Given the description of an element on the screen output the (x, y) to click on. 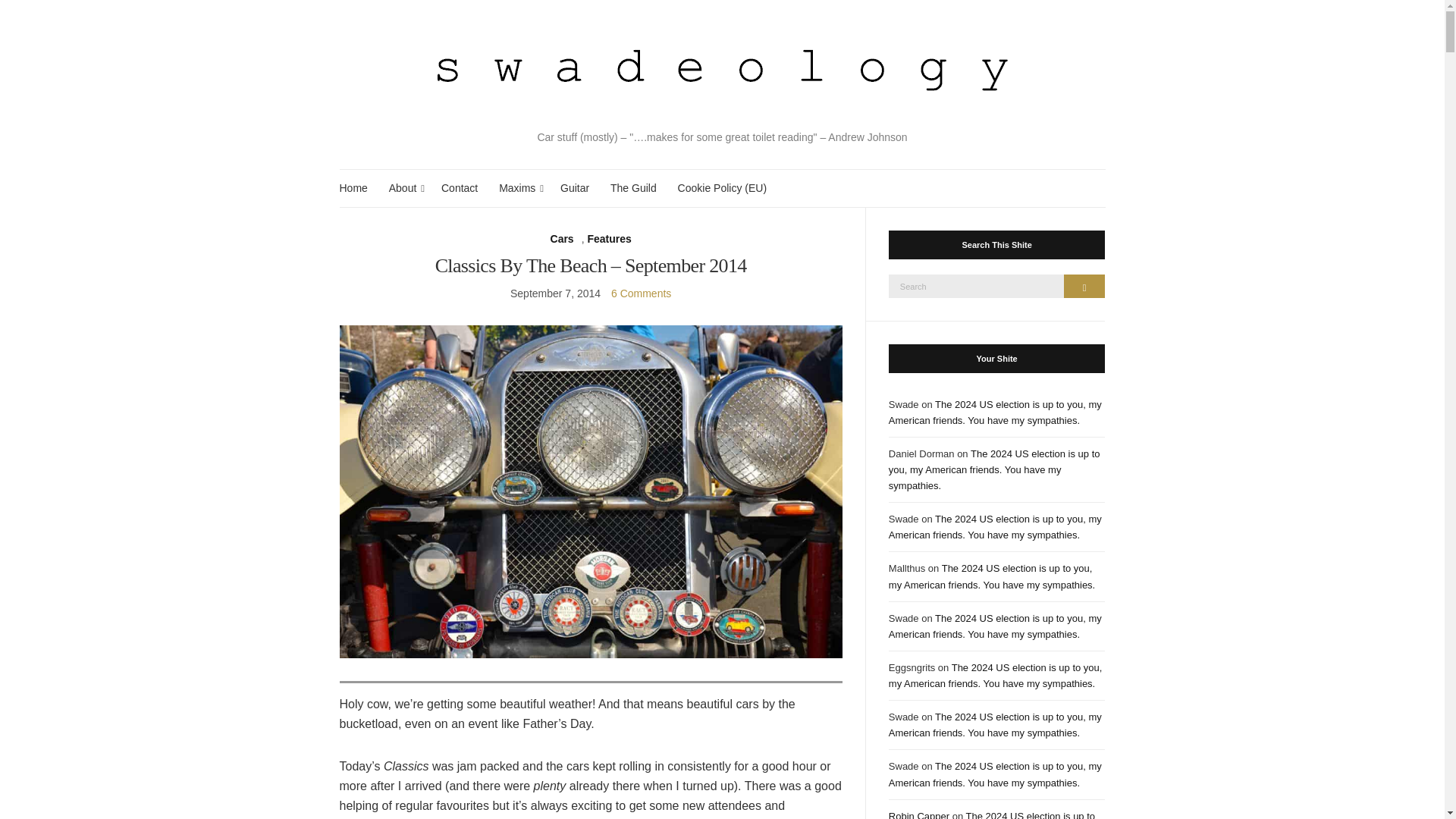
Contact (459, 188)
Cars (561, 239)
Maxims (518, 188)
6 Comments (641, 293)
The Guild (633, 188)
About (404, 188)
Features (608, 239)
Home (353, 188)
Guitar (574, 188)
